Given the description of an element on the screen output the (x, y) to click on. 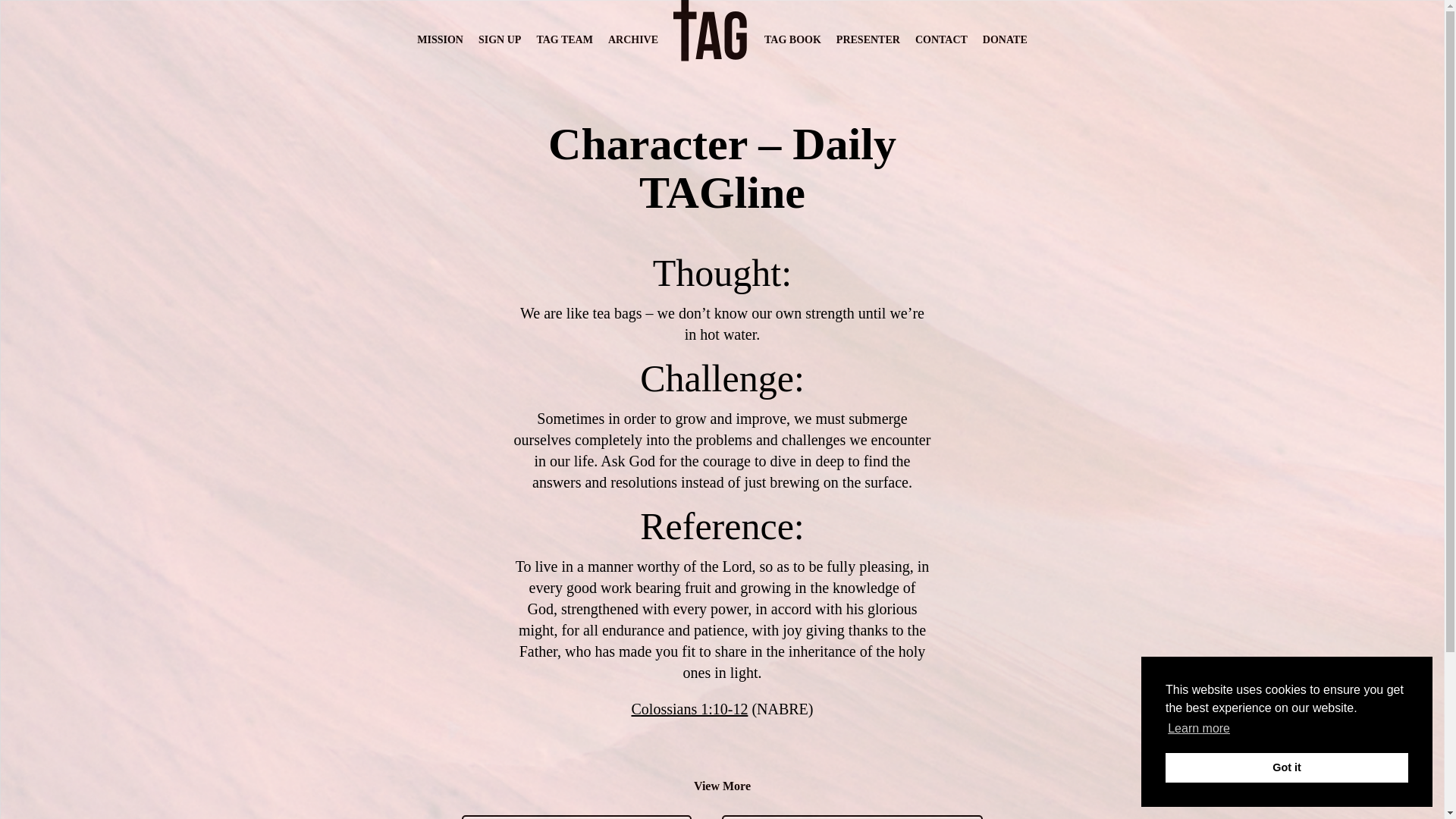
ARCHIVE (633, 39)
Learn more (1198, 728)
DONATE (1004, 39)
Got it (1286, 767)
PRESENTER (867, 39)
SIGN UP (500, 39)
Colossians 1:10-12 (689, 709)
MISSION (439, 39)
HOME (710, 71)
TAG BOOK (792, 39)
TAG TEAM (563, 39)
CONTACT (941, 39)
